Given the description of an element on the screen output the (x, y) to click on. 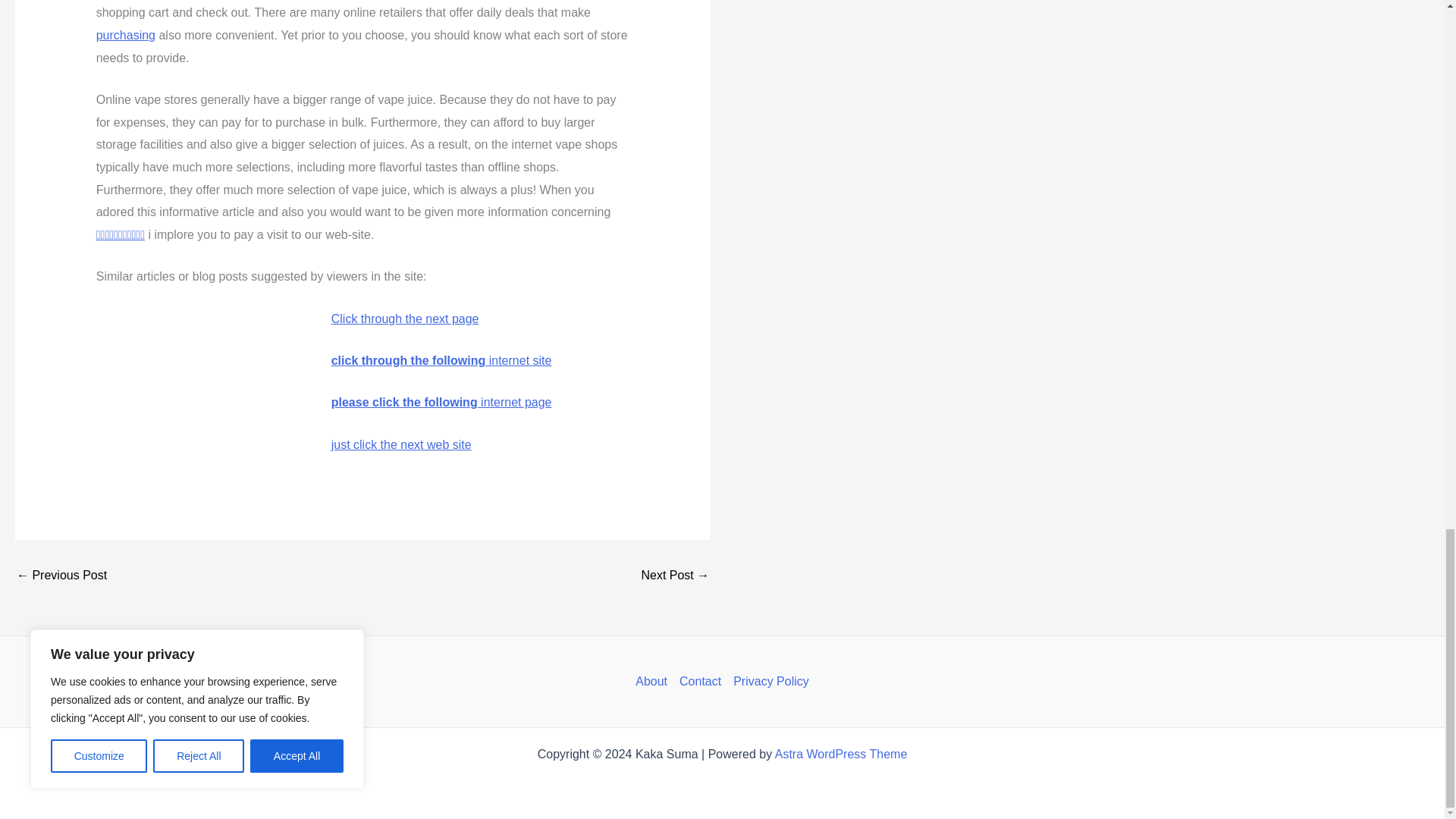
click through the following internet site (441, 359)
Exactly how to Trade in the Foreign Exchange Spot Market (674, 575)
The Advantages of Prenatal and Myofascial Launch Massage (61, 575)
Click through the next page (405, 318)
please click the following internet page (441, 401)
purchasing (125, 34)
just click the next web site (401, 444)
